Given the description of an element on the screen output the (x, y) to click on. 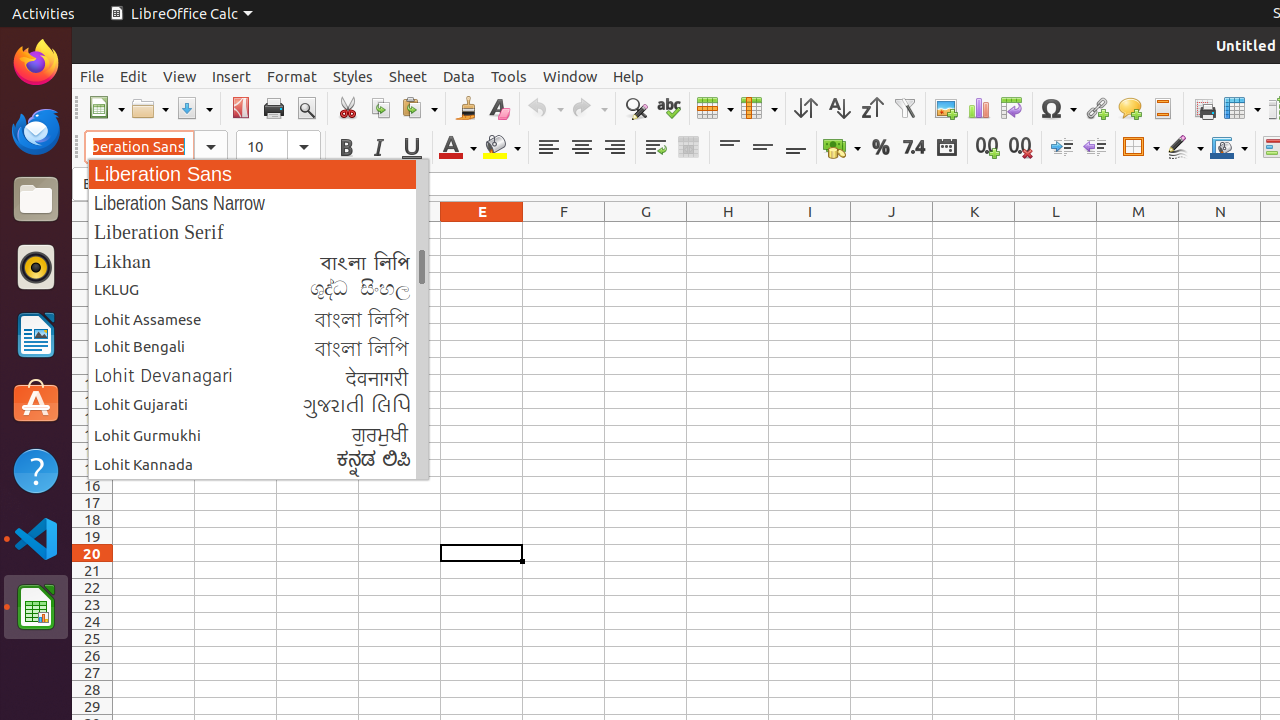
Rhythmbox Element type: push-button (36, 267)
Files Element type: push-button (36, 199)
Border Style Element type: push-button (1185, 147)
Sort Element type: push-button (805, 108)
Format Element type: menu (292, 76)
